Given the description of an element on the screen output the (x, y) to click on. 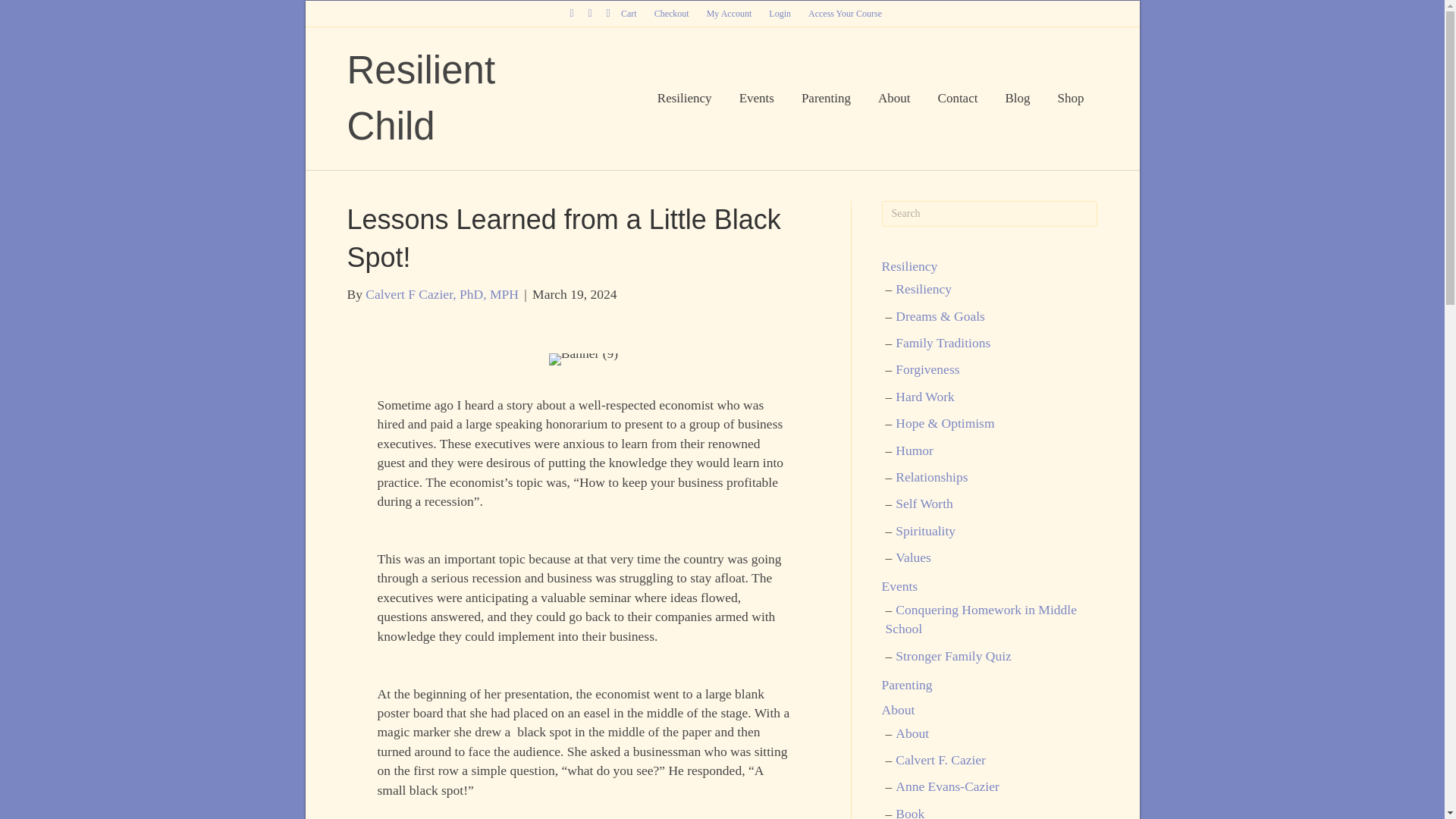
Rss (607, 12)
Resilient Child (466, 98)
Access Your Course (844, 13)
Shop (1070, 97)
Contact (957, 97)
Events (756, 97)
Checkout (671, 13)
Facebook (571, 12)
Blog (1017, 97)
Cart (628, 13)
Resiliency (684, 97)
Parenting (825, 97)
About (894, 97)
Type and press Enter to search. (988, 213)
Pinterest (589, 12)
